Given the description of an element on the screen output the (x, y) to click on. 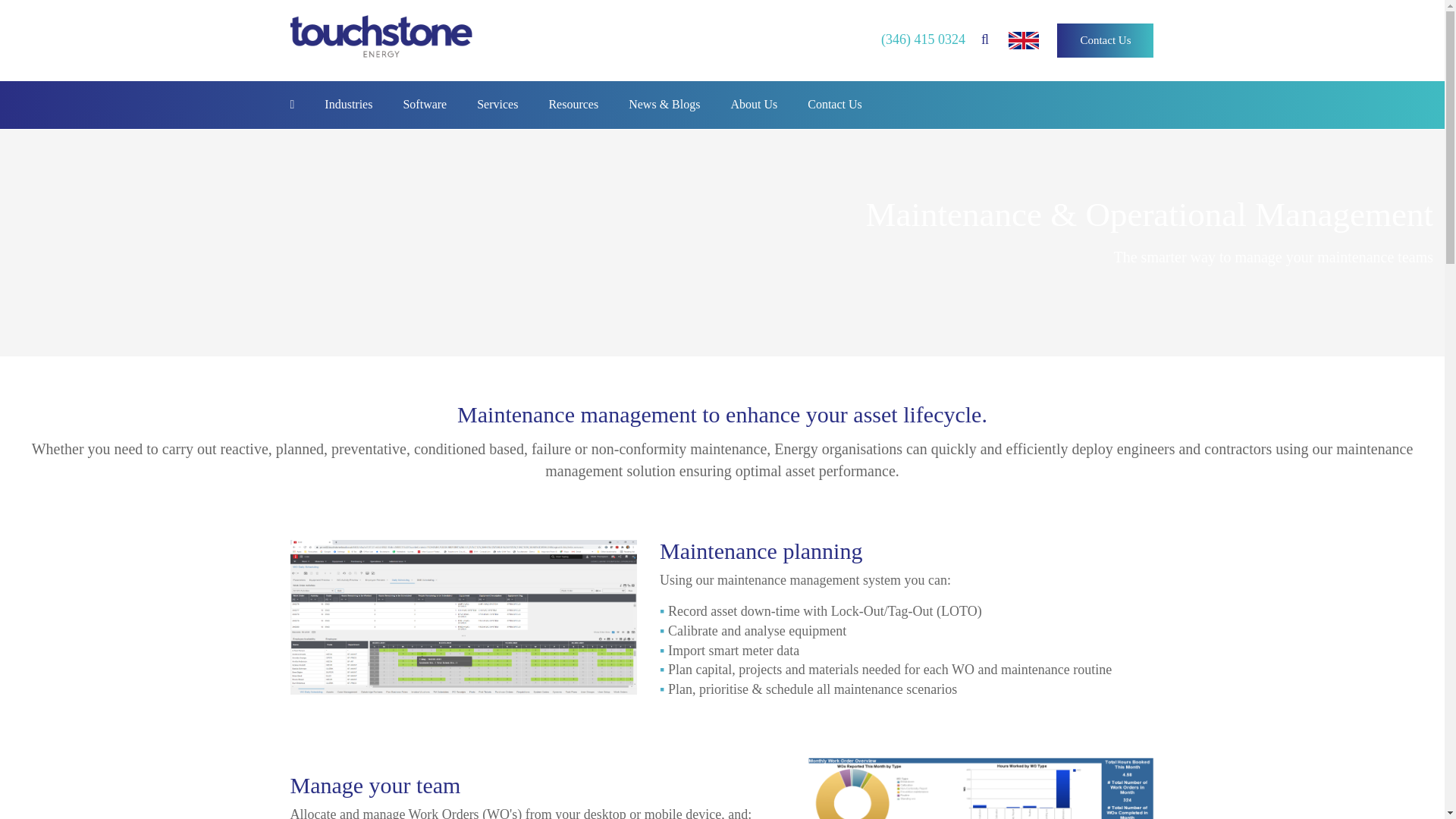
Industries (347, 106)
Contact Us (1105, 40)
Services (496, 106)
Software (424, 106)
Visit our UK Site (1024, 40)
TouchstoneEnergy (380, 37)
